Given the description of an element on the screen output the (x, y) to click on. 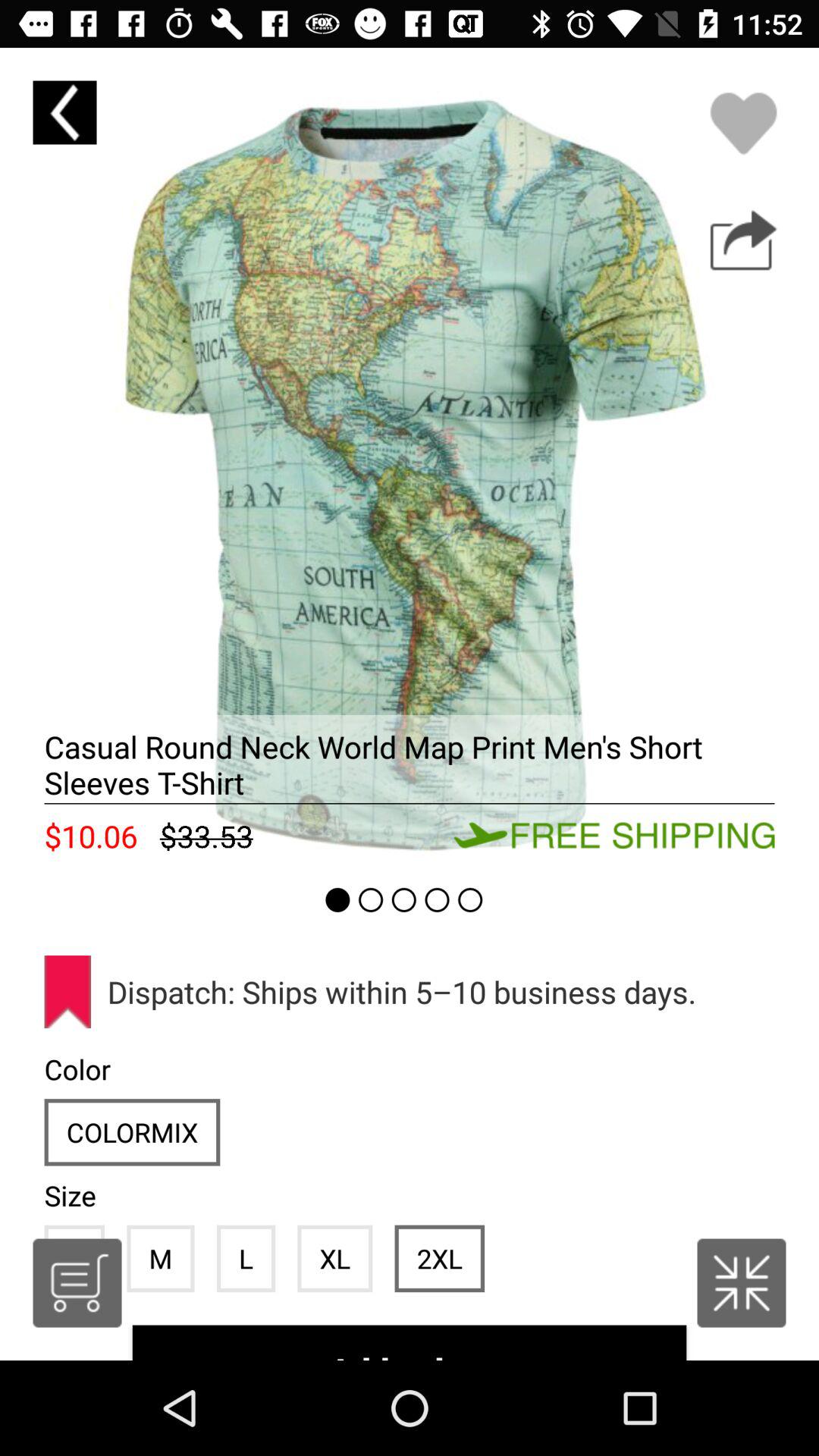
go to cart (76, 1282)
